Given the description of an element on the screen output the (x, y) to click on. 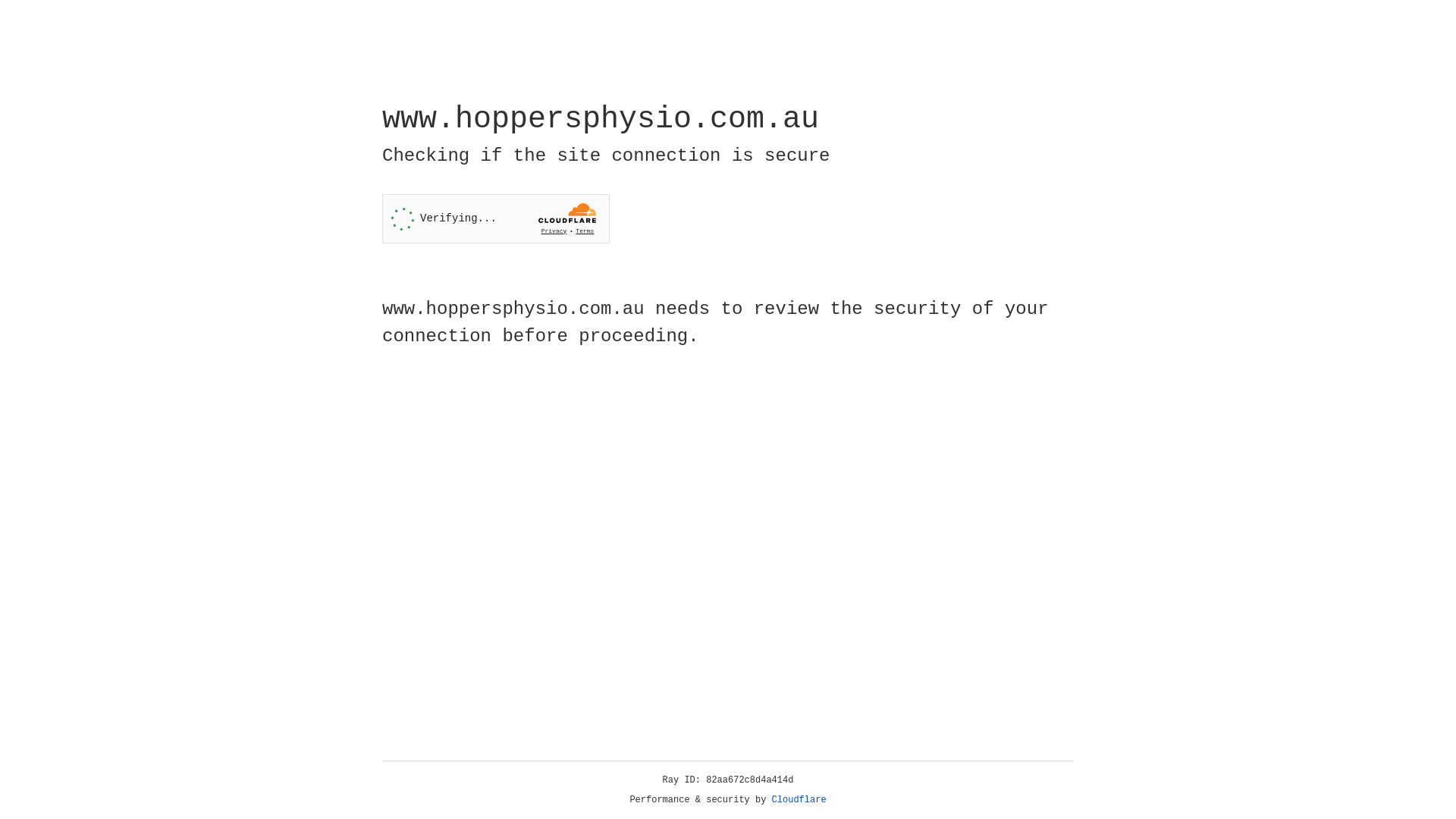
Widget containing a Cloudflare security challenge Element type: hover (495, 218)
Cloudflare Element type: text (798, 799)
